Given the description of an element on the screen output the (x, y) to click on. 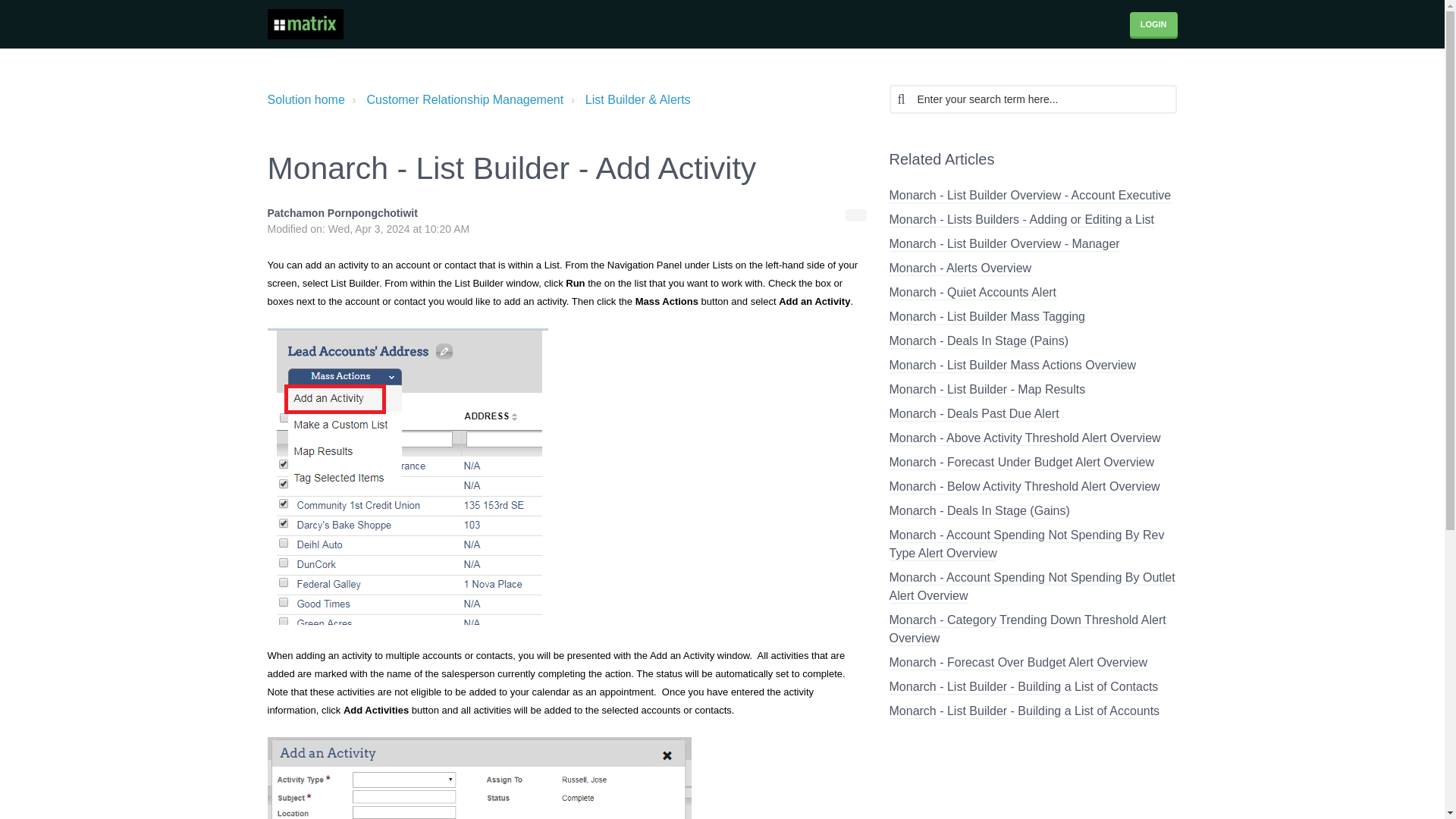
Monarch - List Builder - Building a List of Accounts (1023, 711)
Monarch - Alerts Overview (959, 268)
Monarch - Above Activity Threshold Alert Overview (1024, 438)
Solution home (304, 99)
Monarch - List Builder Overview - Manager (1003, 244)
Monarch - Below Activity Threshold Alert Overview (1023, 486)
Monarch - Forecast Over Budget Alert Overview (1017, 663)
Customer Relationship Management (455, 99)
Monarch - List Builder - Building a List of Contacts (1022, 687)
Monarch - List Builder Overview - Account Executive (1029, 196)
Monarch - List Builder Mass Tagging (986, 317)
Solution home (304, 99)
Customer Relationship Management (464, 99)
